Given the description of an element on the screen output the (x, y) to click on. 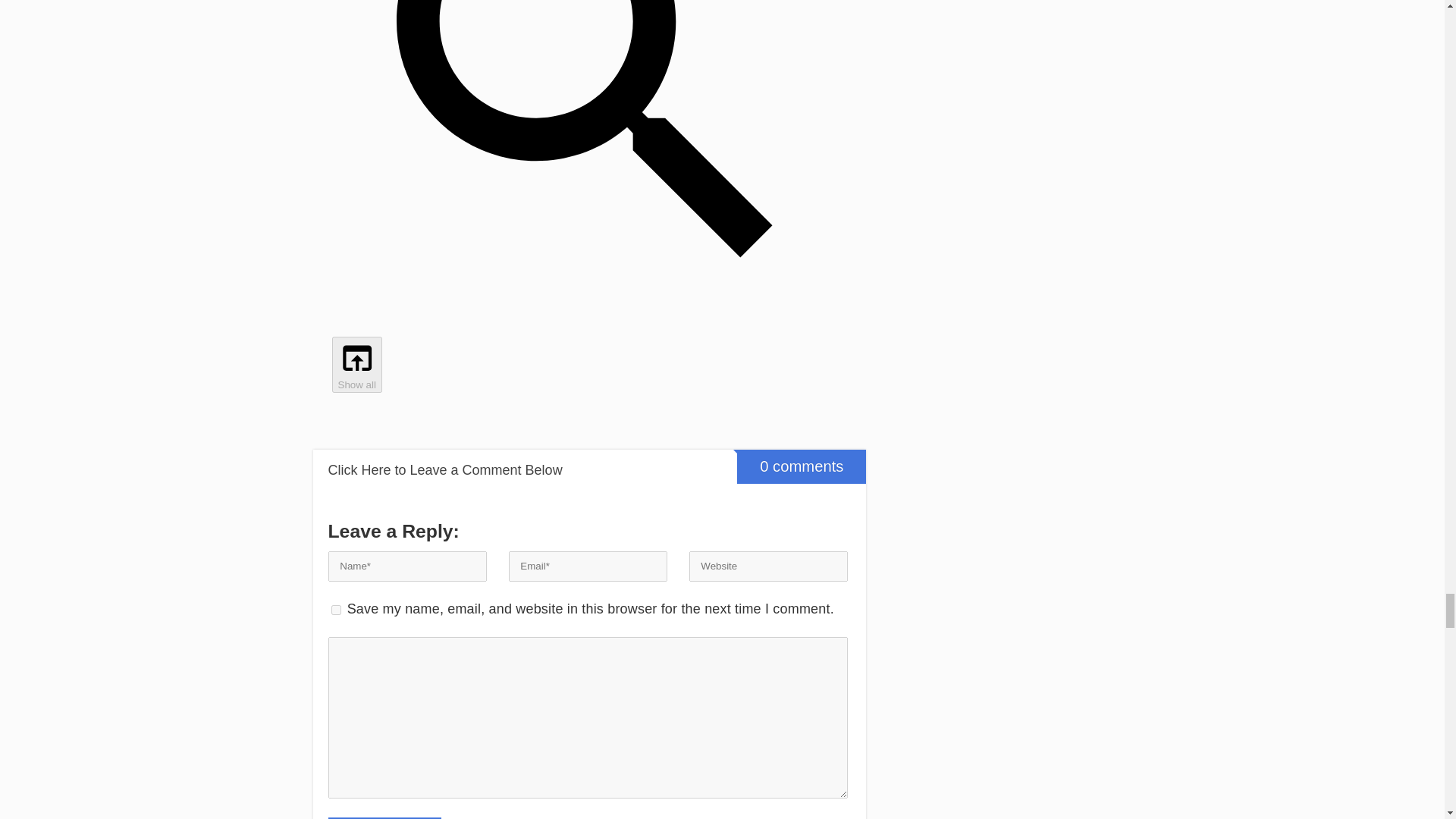
yes (335, 610)
SUBMIT (384, 818)
